Given the description of an element on the screen output the (x, y) to click on. 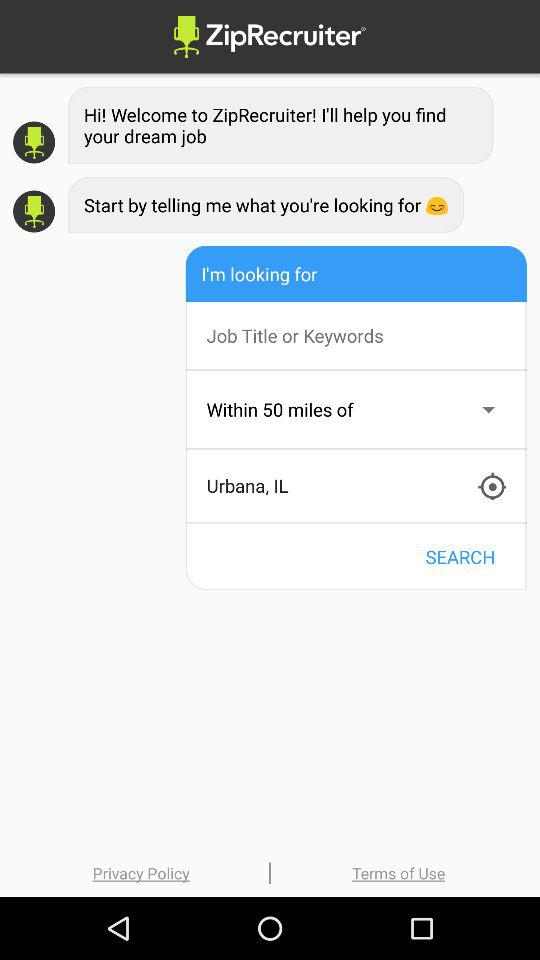
search by job title or keyword (366, 335)
